Given the description of an element on the screen output the (x, y) to click on. 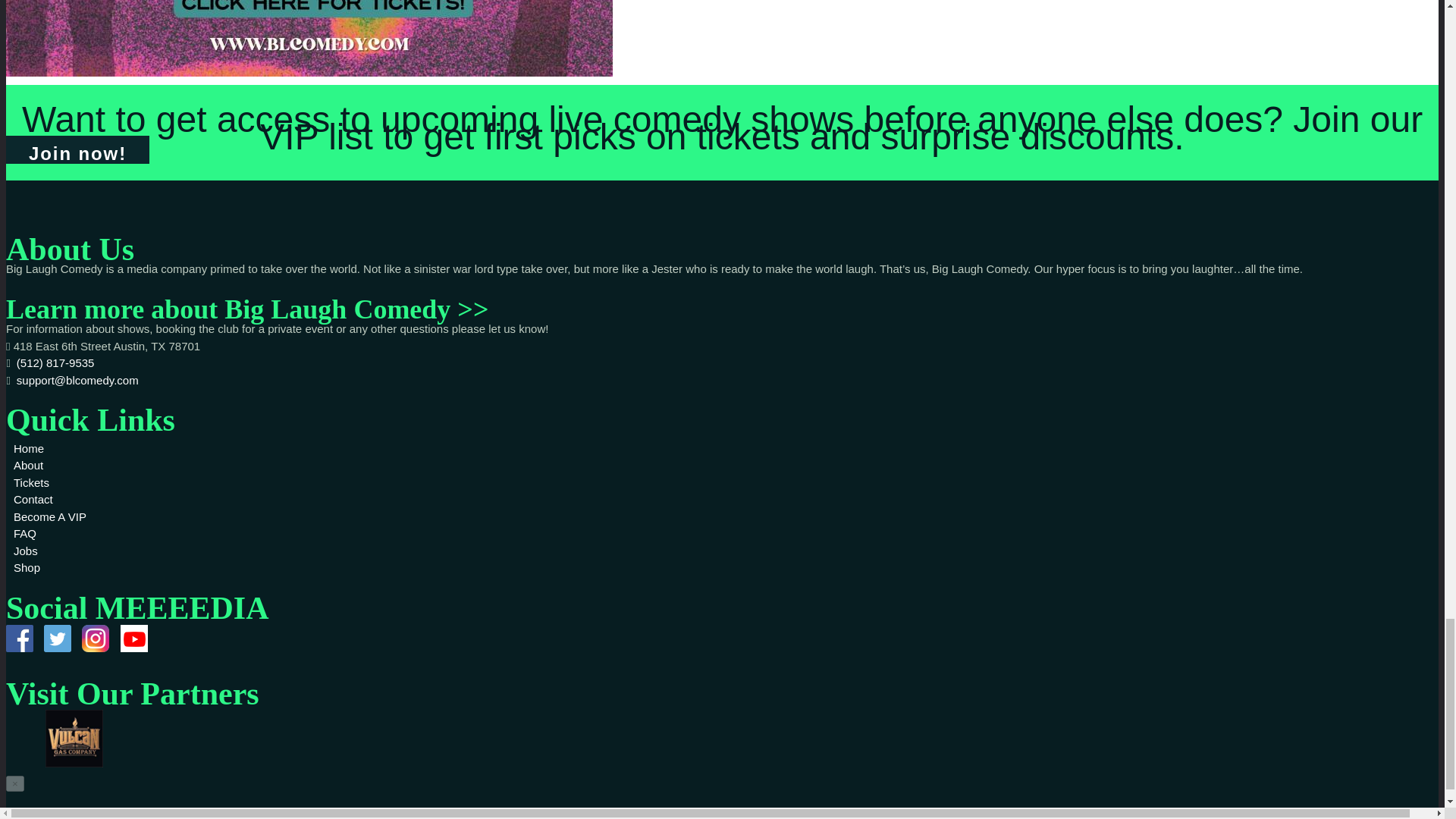
Join now! (77, 149)
About (28, 464)
Home (28, 448)
